Given the description of an element on the screen output the (x, y) to click on. 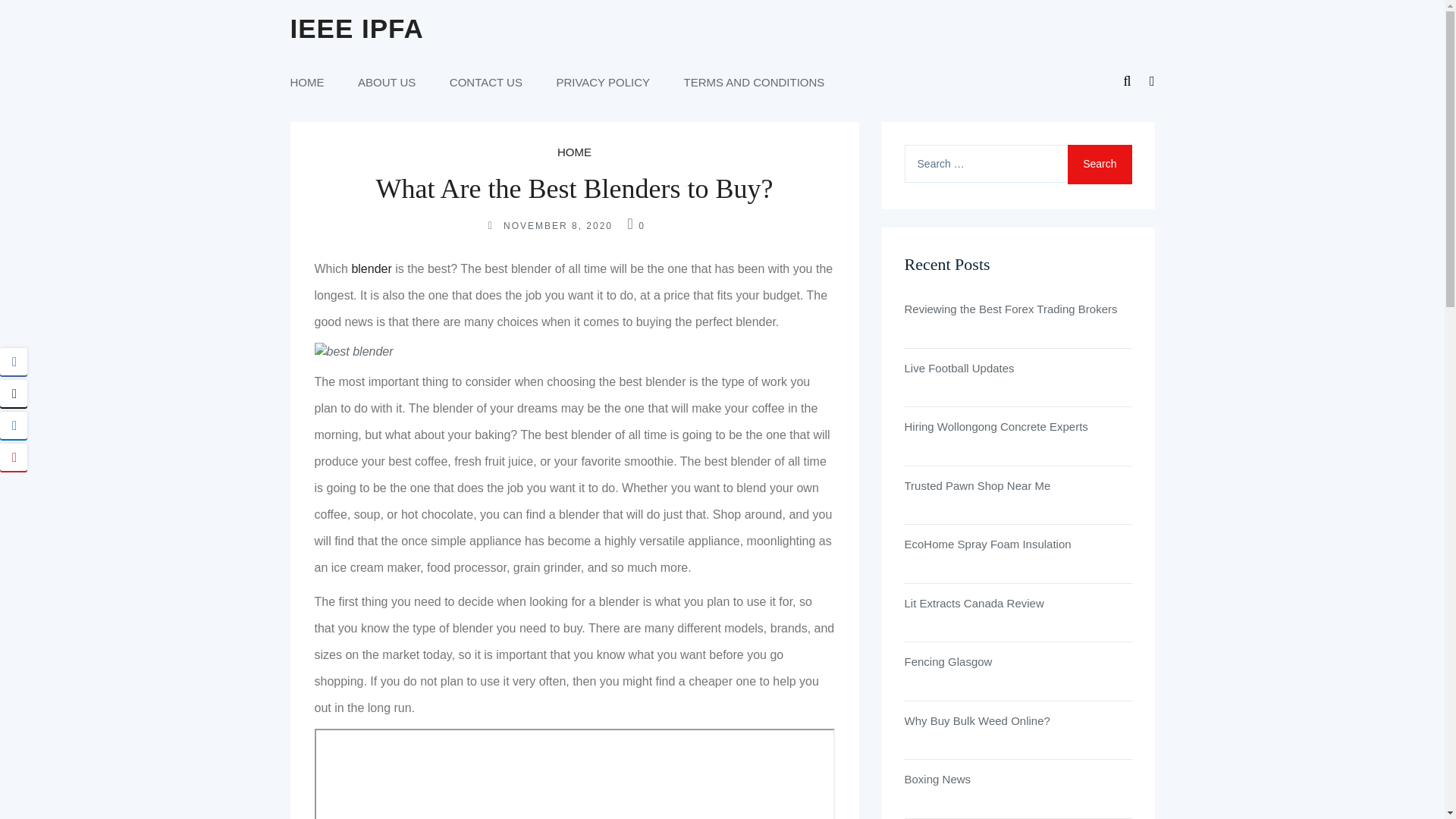
HOME (574, 151)
Lit Extracts Canada Review (1018, 603)
Live Football Updates (1018, 368)
Why Buy Bulk Weed Online? (1018, 721)
CONTACT US (485, 82)
blender (370, 268)
Reviewing the Best Forex Trading Brokers (1018, 309)
PRIVACY POLICY (602, 82)
Fencing Glasgow (1018, 661)
TERMS AND CONDITIONS (754, 82)
